Given the description of an element on the screen output the (x, y) to click on. 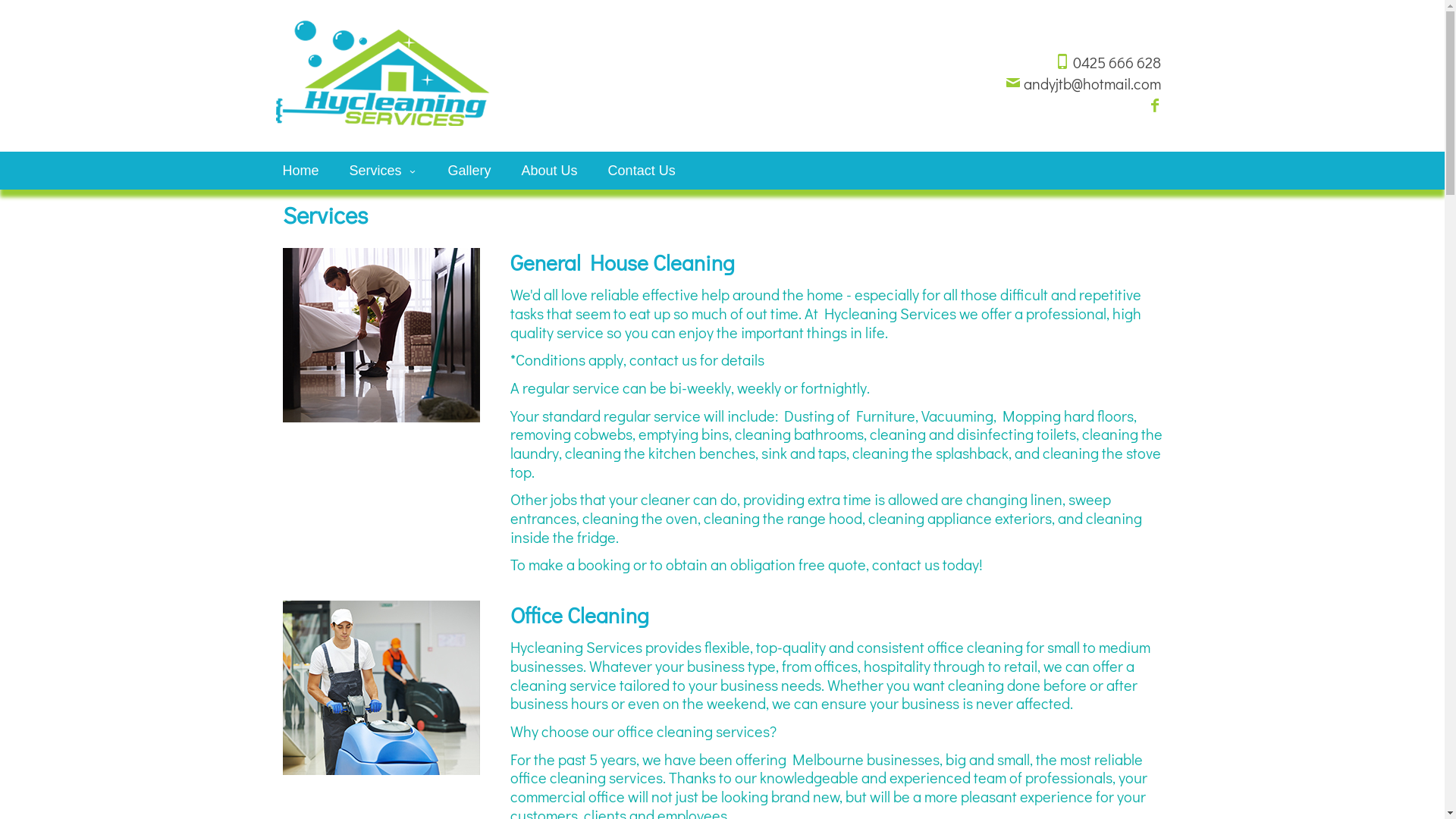
0425 666 628 Element type: text (1107, 62)
Services Element type: text (383, 170)
Home Element type: text (299, 170)
About Us Element type: text (549, 170)
Facebook Element type: hover (1154, 105)
Contact Us Element type: text (641, 170)
Gallery Element type: text (469, 170)
andyjtb@hotmail.com Element type: text (1083, 83)
